Given the description of an element on the screen output the (x, y) to click on. 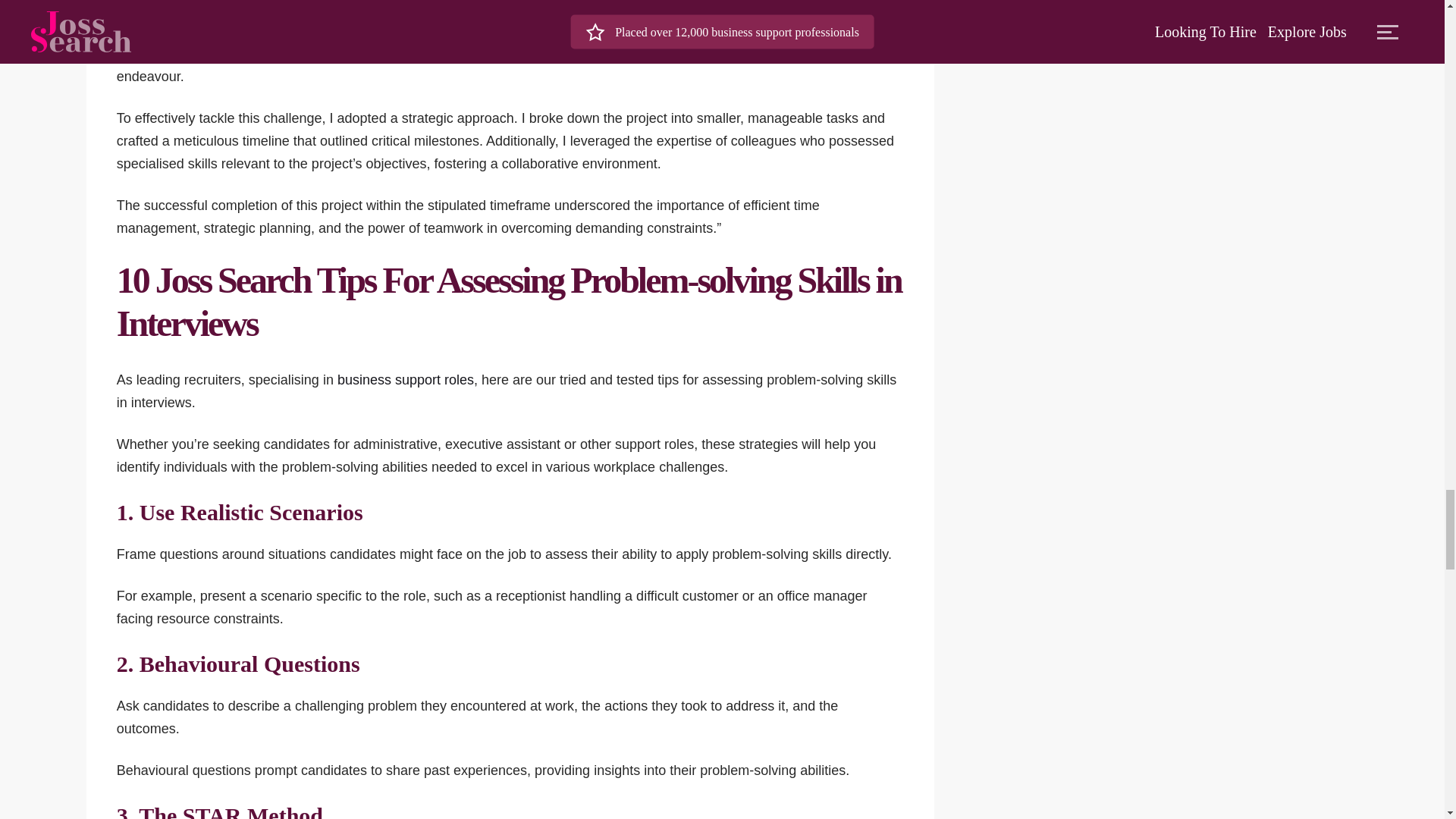
business support role (395, 30)
business support roles (405, 379)
comprehensive ISO compliance audit (486, 42)
